Given the description of an element on the screen output the (x, y) to click on. 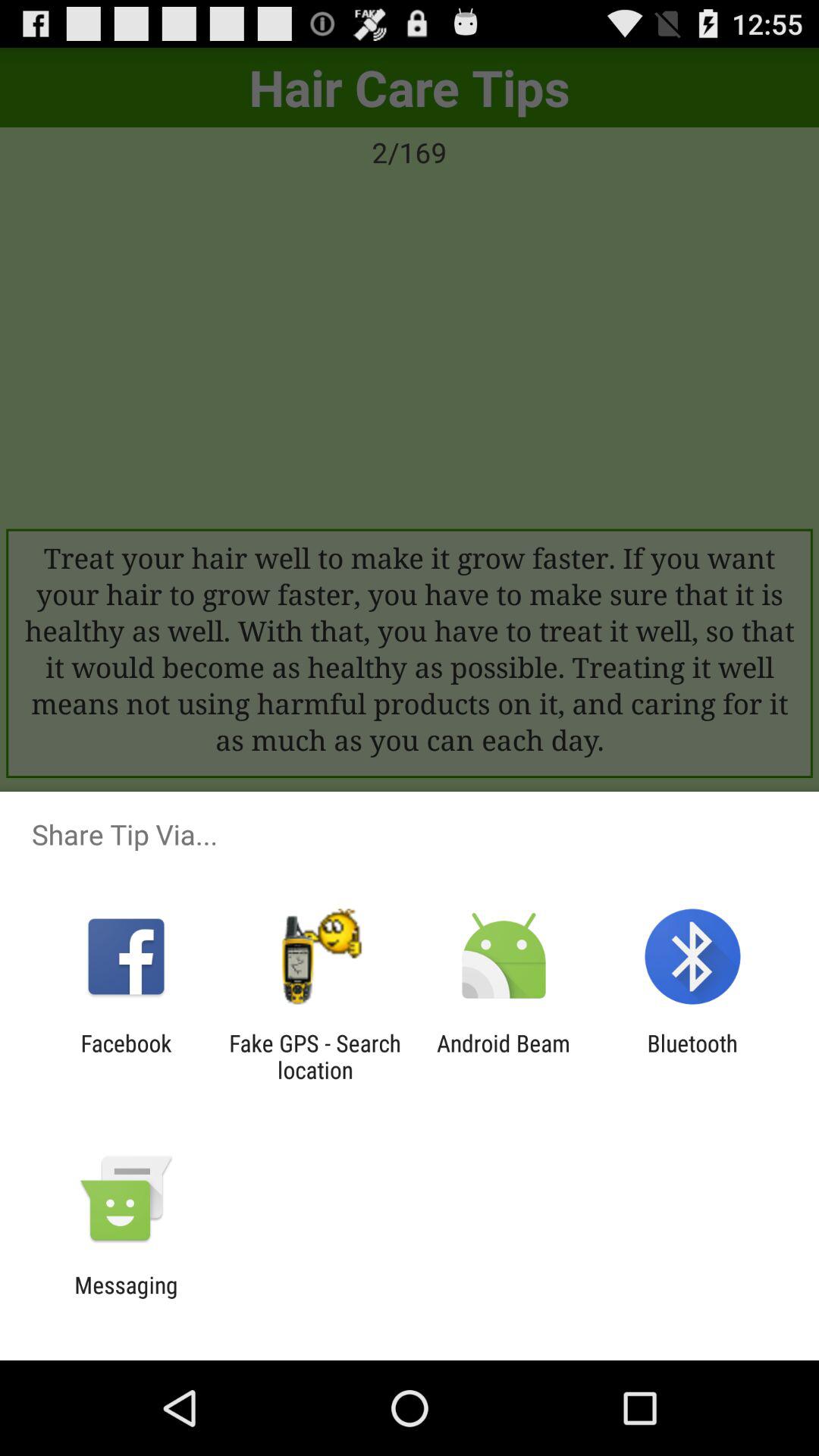
choose app next to the android beam icon (314, 1056)
